Given the description of an element on the screen output the (x, y) to click on. 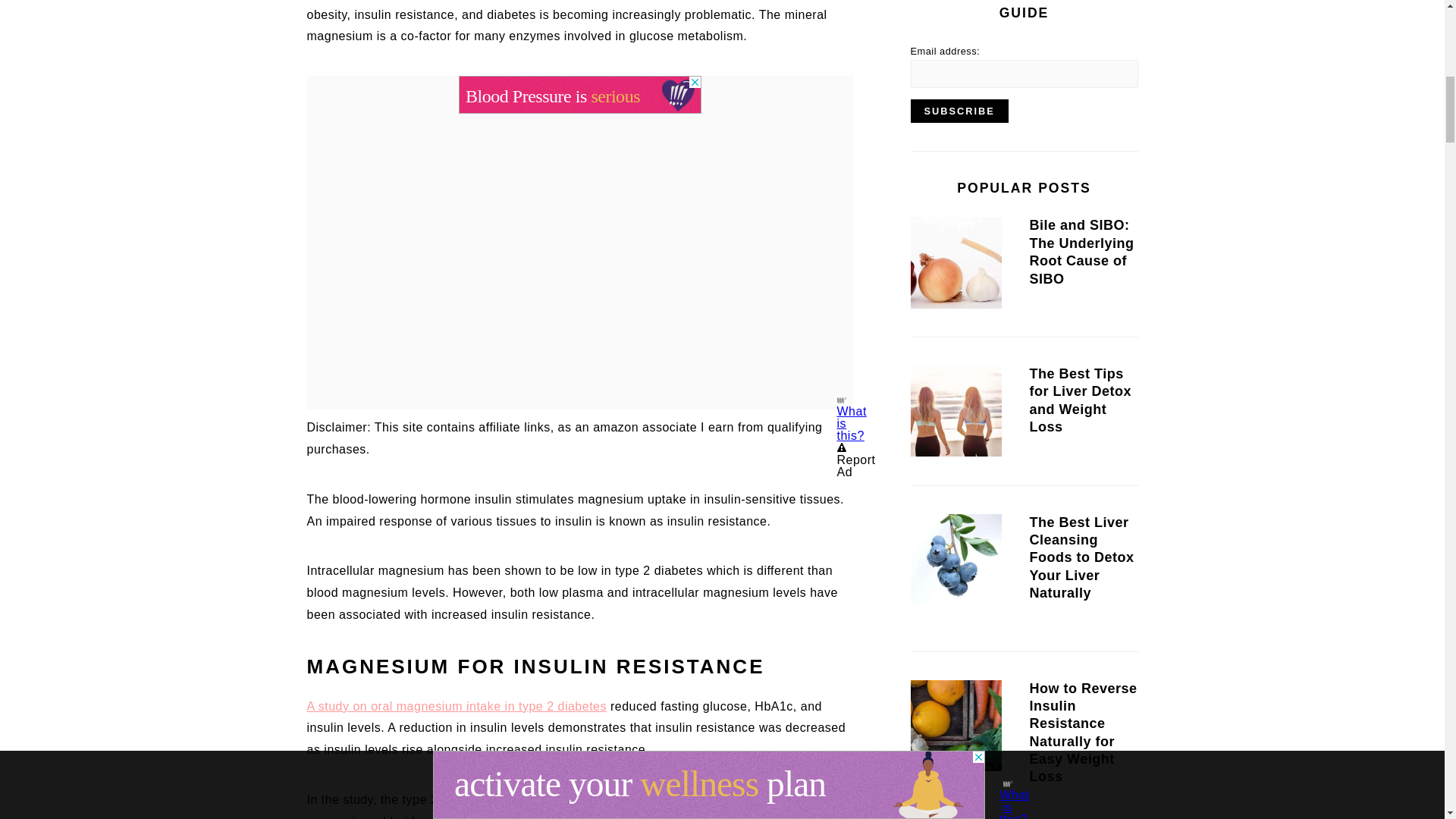
Subscribe (958, 110)
The Best Liver Cleansing Foods to Detox Your Liver Naturally (955, 562)
A study on oral magnesium intake in type 2 diabetes (456, 706)
3rd party ad content (579, 94)
Bile and SIBO: The Underlying Root Cause of SIBO (955, 264)
The Best Tips for Liver Detox and Weight Loss (955, 413)
